Given the description of an element on the screen output the (x, y) to click on. 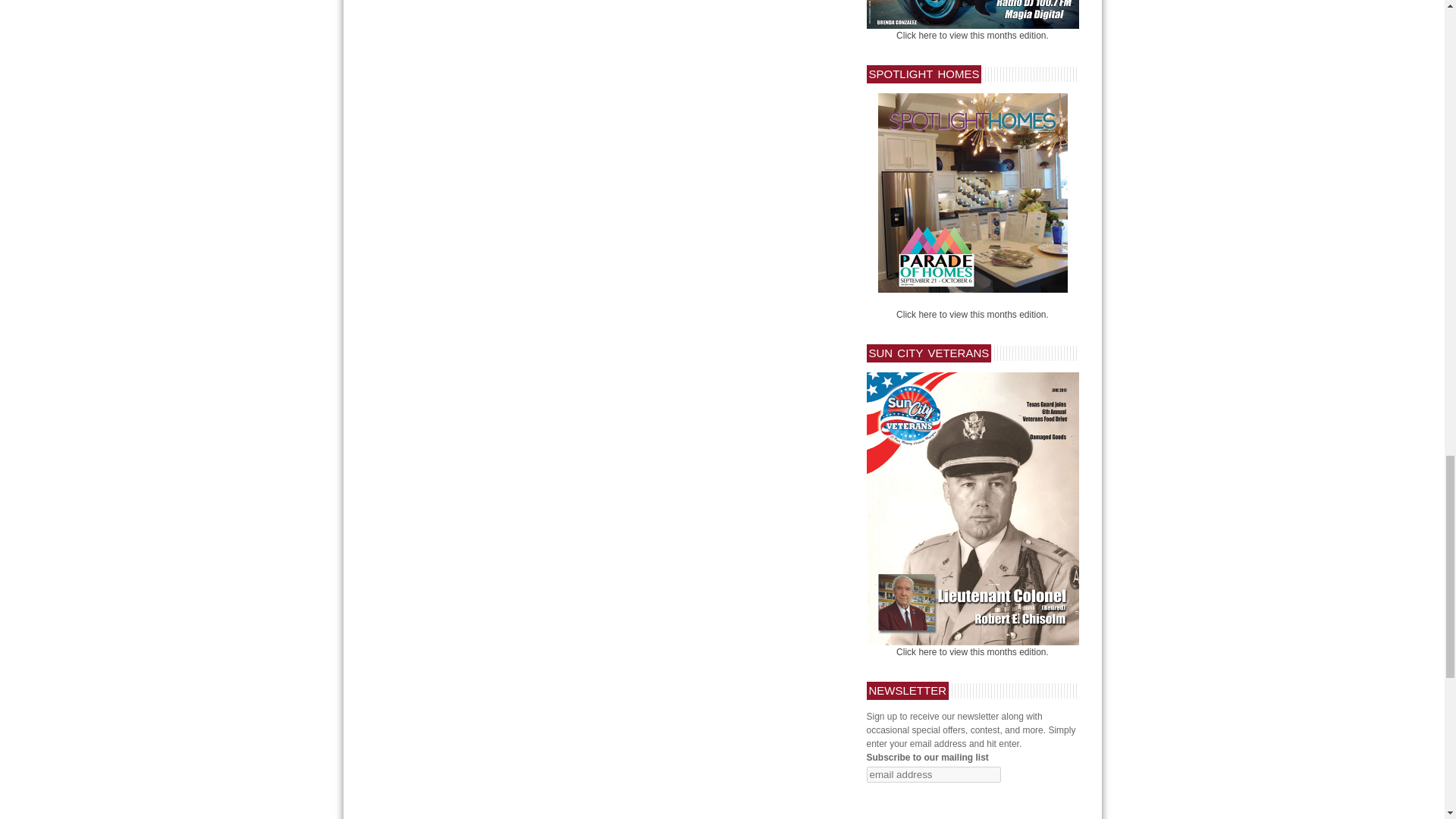
Click here to view this months edition. (972, 314)
Click here to view this months edition. (972, 35)
Click here to view this months edition. (972, 652)
Subscribe (892, 794)
